Given the description of an element on the screen output the (x, y) to click on. 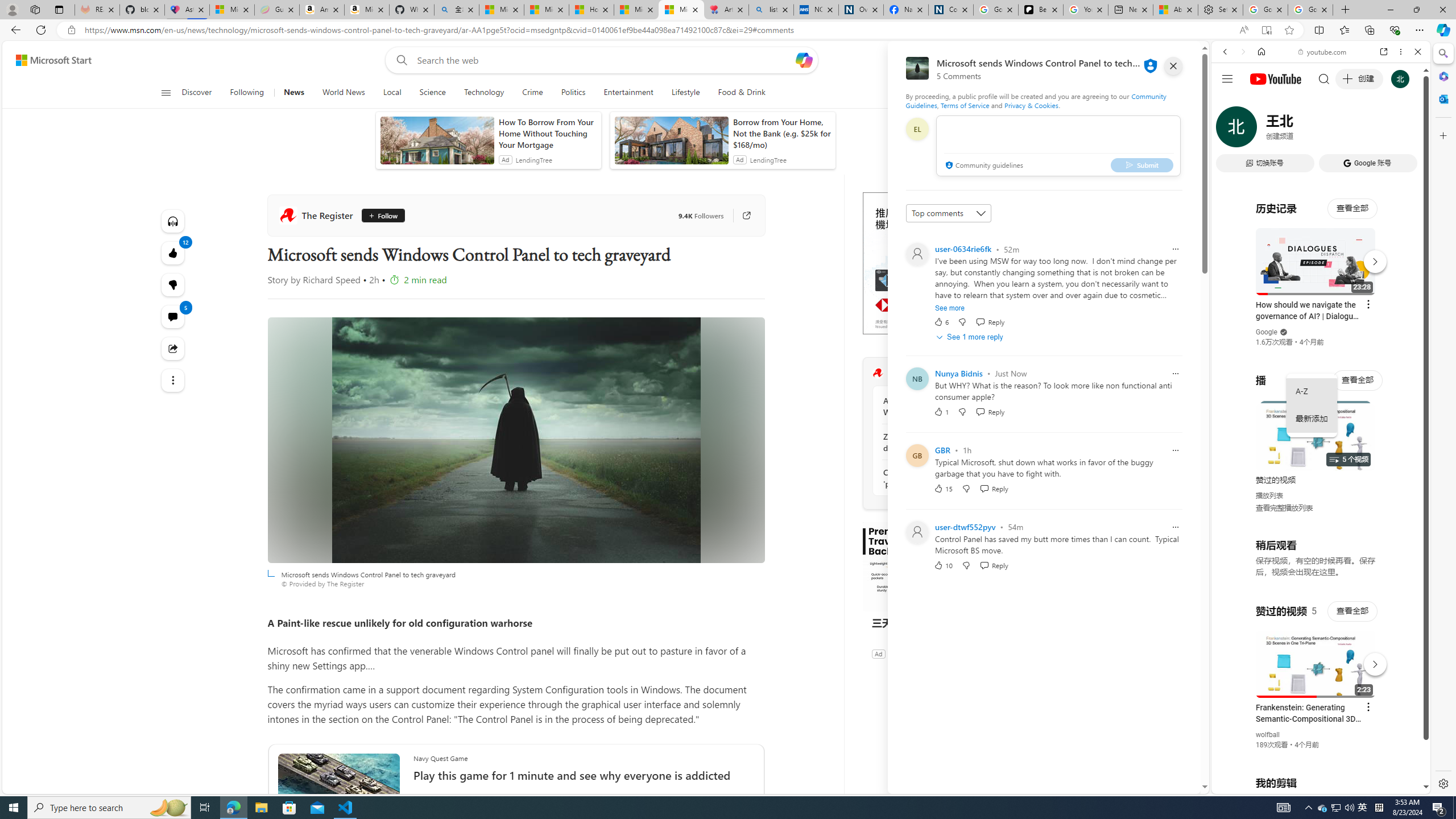
Community Guidelines (1035, 100)
Show More Music (1390, 310)
anim-content (671, 144)
How To Borrow From Your Home Without Touching Your Mortgage (546, 133)
Listen to this article (172, 220)
Class: button-glyph (165, 92)
Science (432, 92)
close (1173, 65)
